Given the description of an element on the screen output the (x, y) to click on. 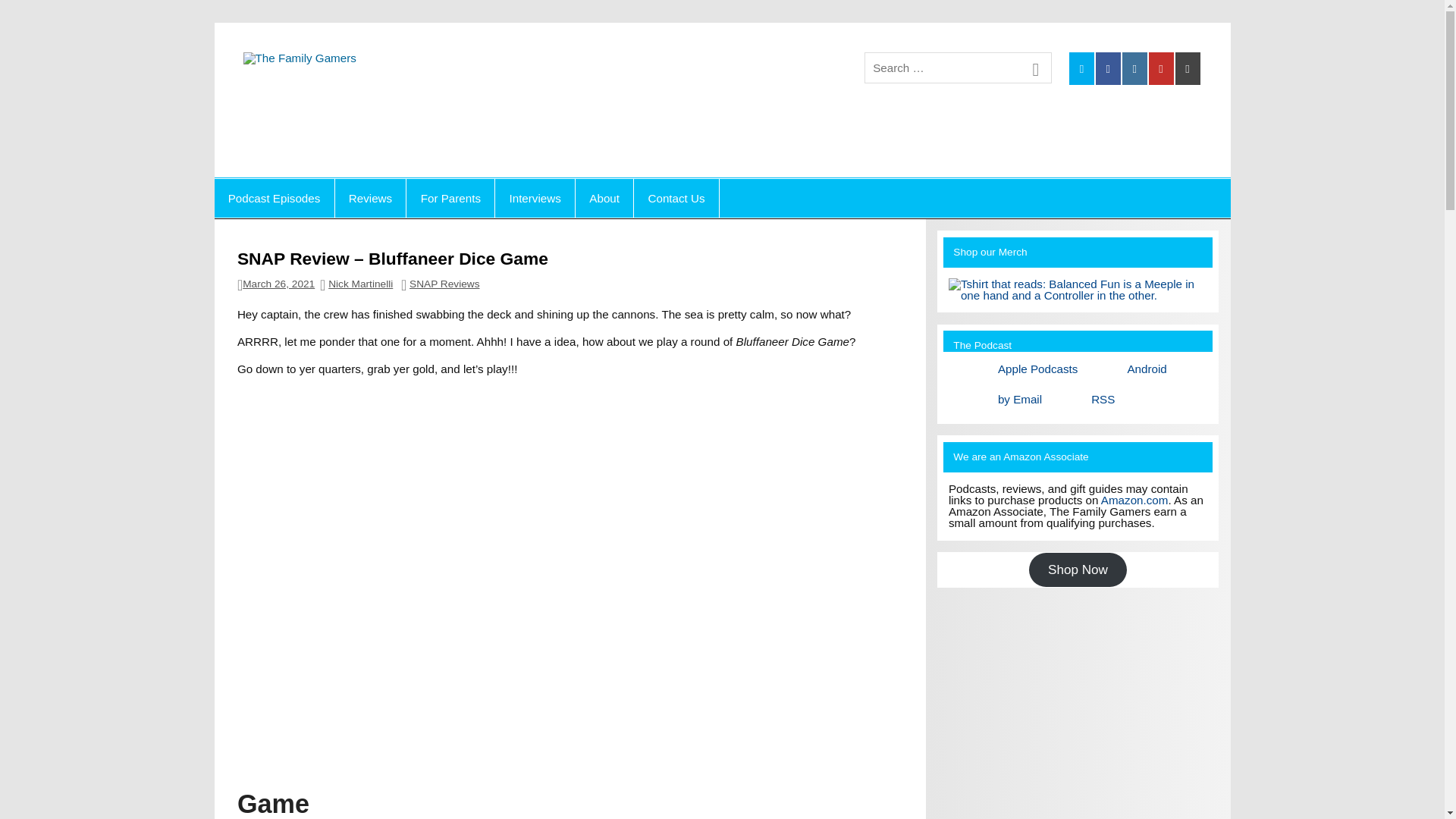
For Parents (450, 198)
Subscribe via RSS (1078, 395)
View all posts by Nick Martinelli (361, 283)
Contact Us (676, 198)
Subscribe by Email (995, 395)
Interviews (535, 198)
Podcast Episodes (273, 198)
Subscribe on Android (1121, 365)
Nick Martinelli (361, 283)
Shop our Merch (1078, 289)
SNAP Reviews (444, 283)
1:37 pm (278, 283)
The Family Gamers (507, 66)
March 26, 2021 (278, 283)
About (604, 198)
